Given the description of an element on the screen output the (x, y) to click on. 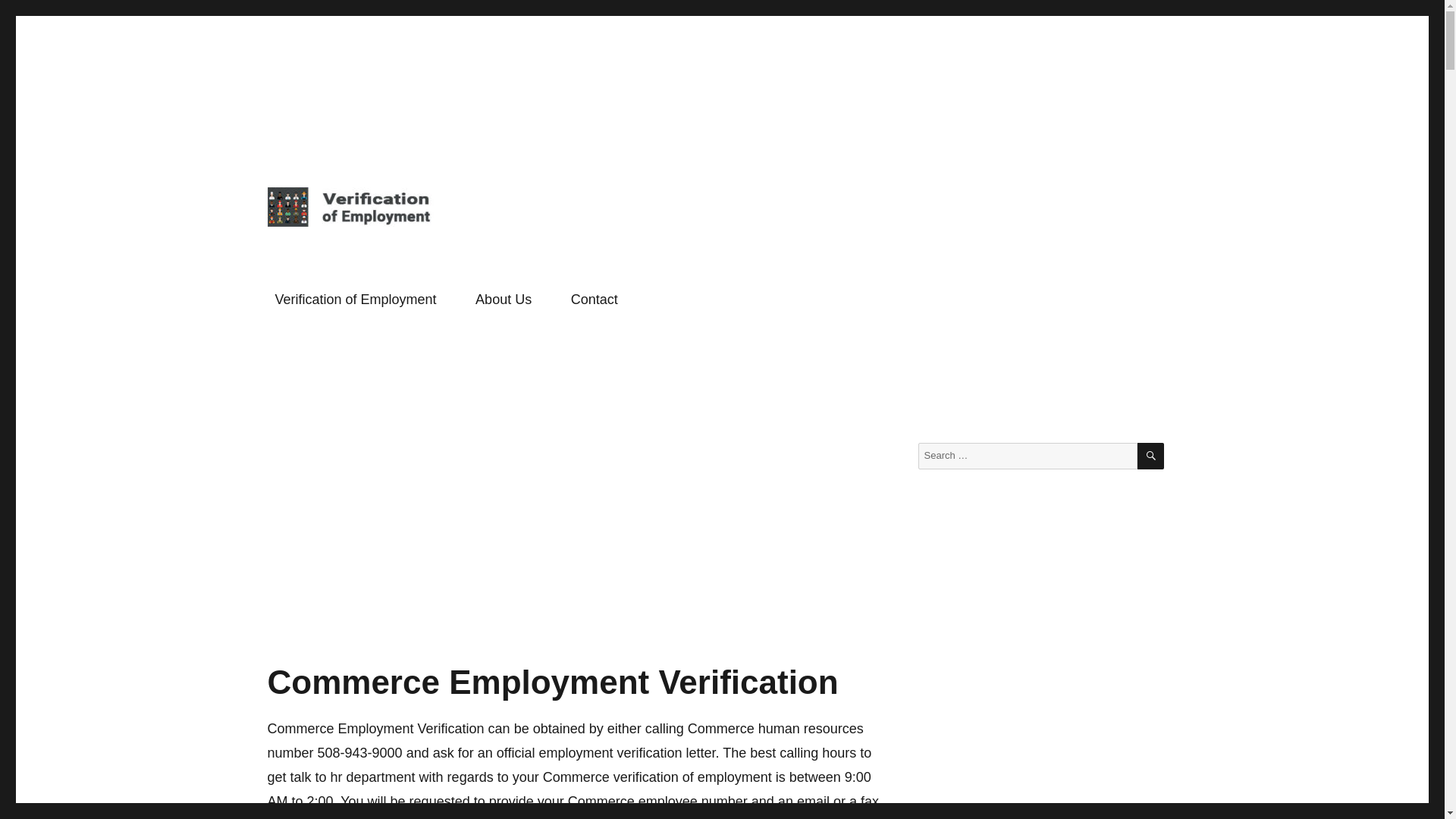
Contact (594, 299)
SEARCH (1150, 456)
Verification of Employment (355, 299)
About Us (503, 299)
Verification of Employment (403, 250)
